Given the description of an element on the screen output the (x, y) to click on. 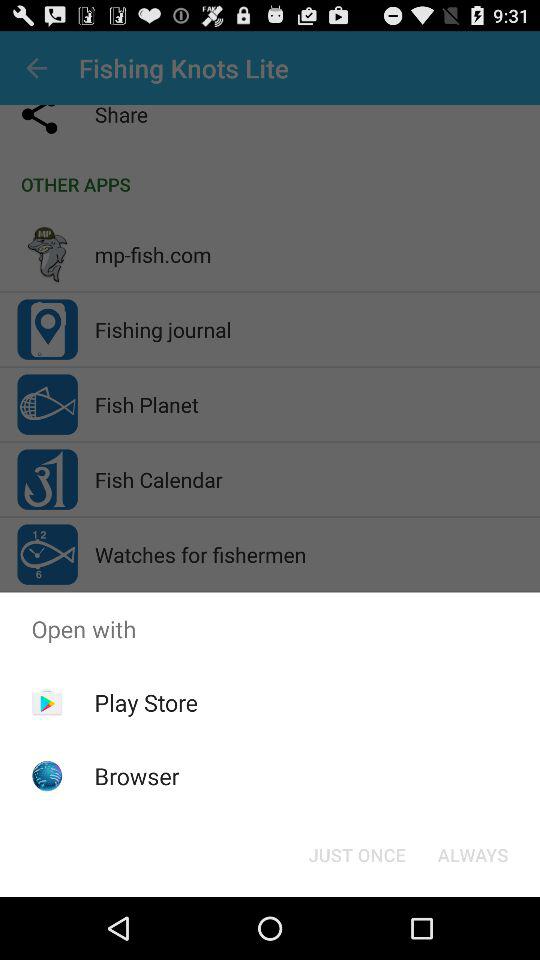
click item below open with app (356, 854)
